Given the description of an element on the screen output the (x, y) to click on. 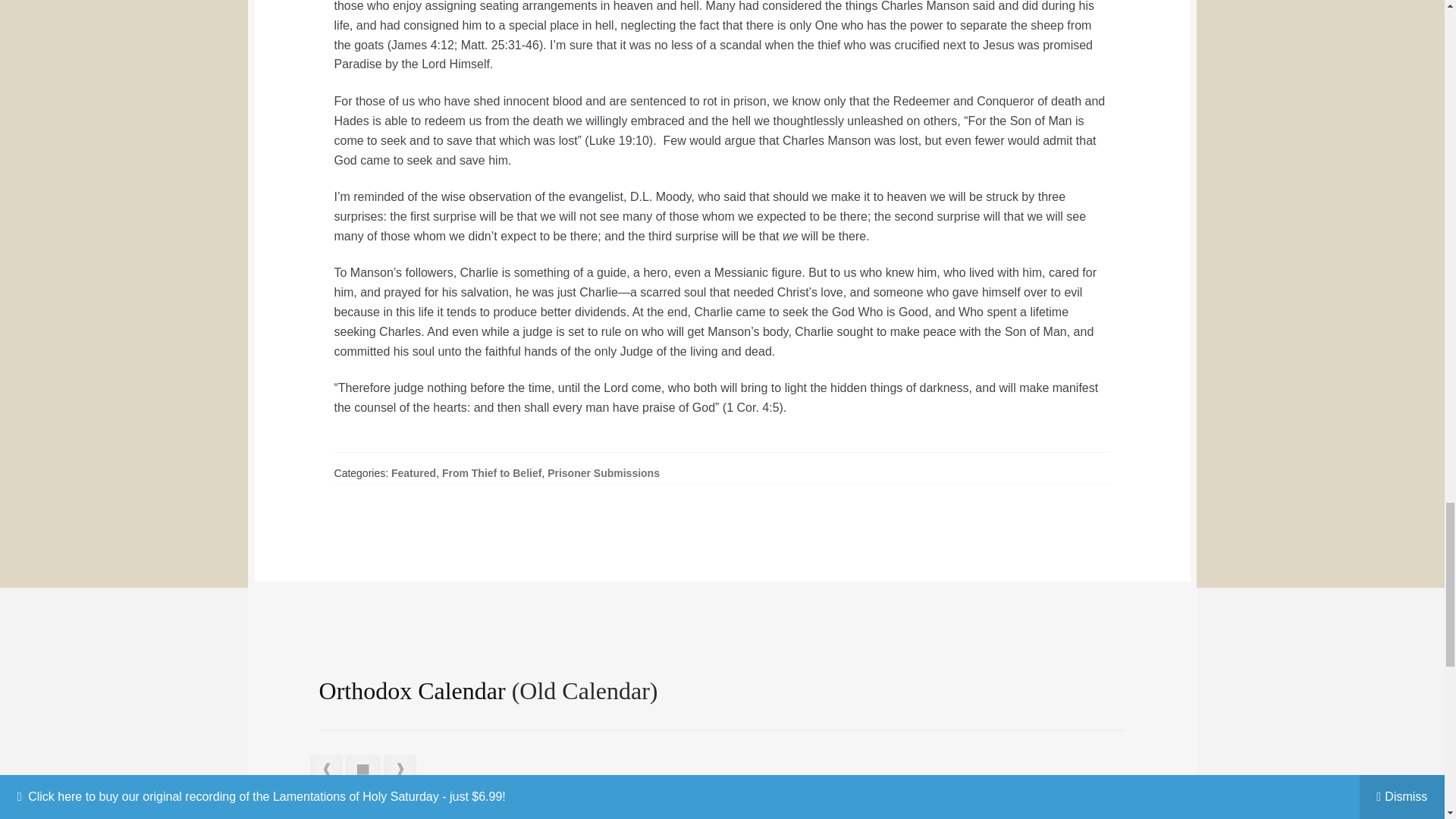
Orthodox Calendar (411, 690)
